Given the description of an element on the screen output the (x, y) to click on. 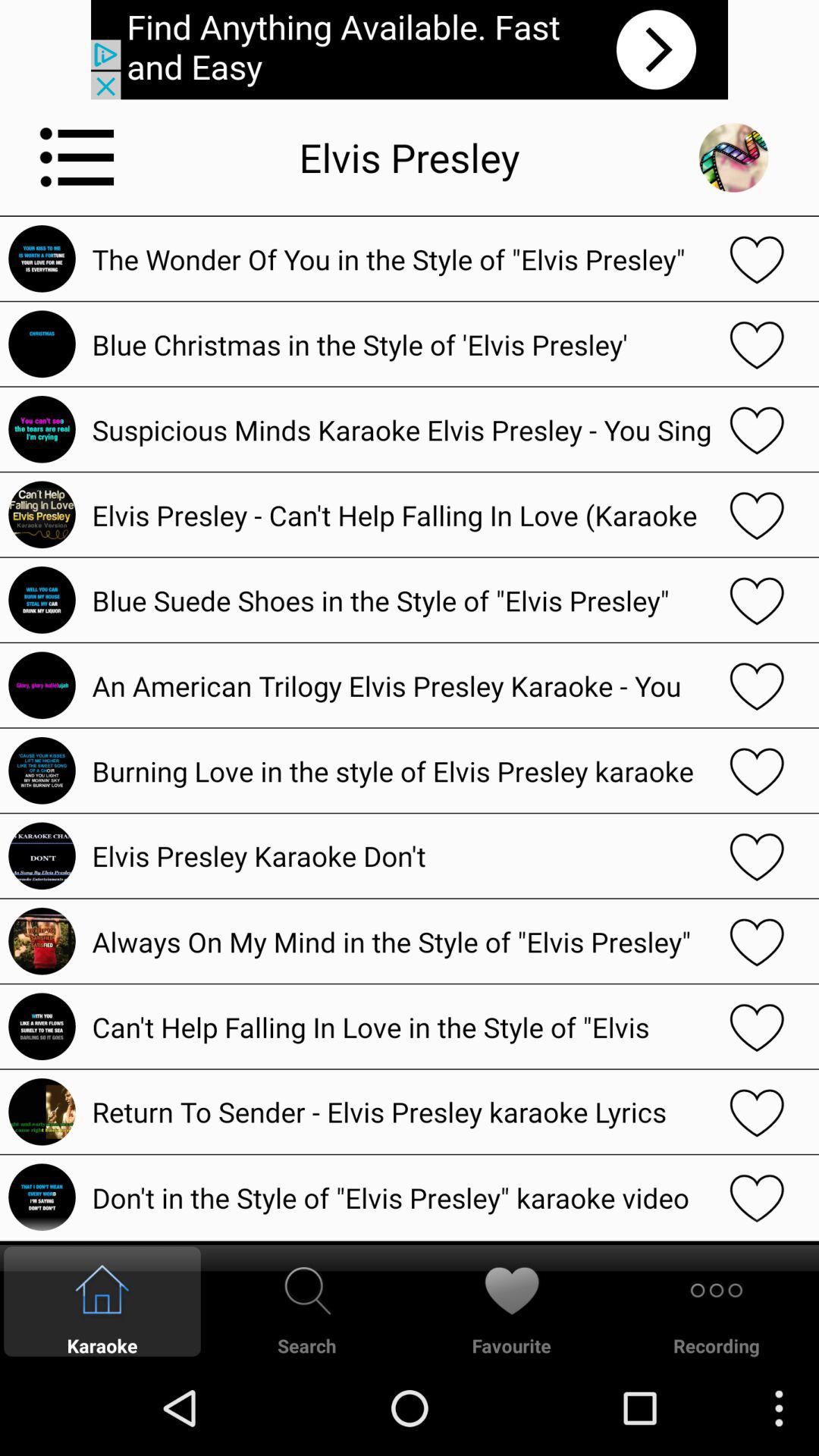
favorite (756, 685)
